Given the description of an element on the screen output the (x, y) to click on. 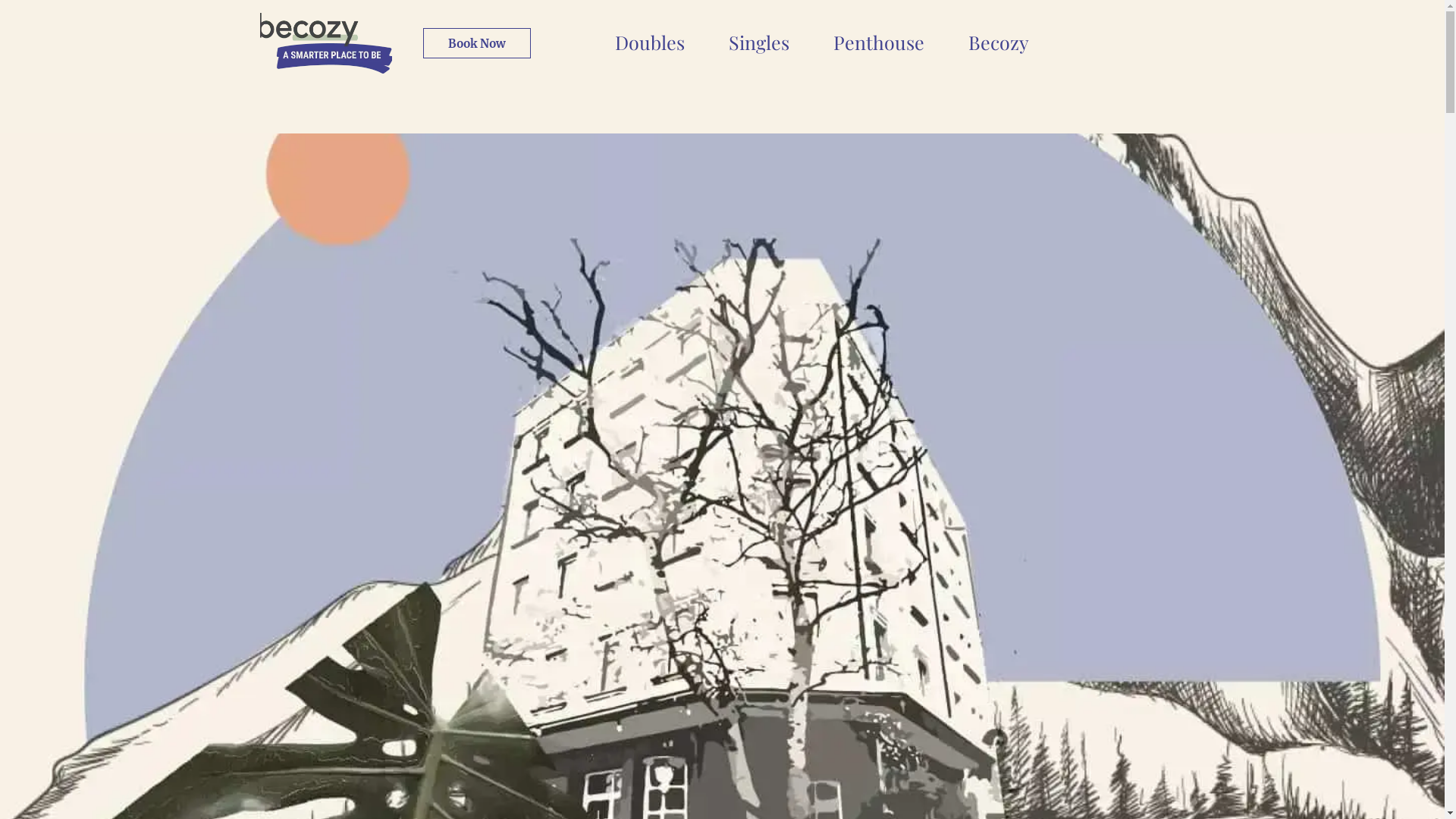
BocozyBasel Element type: hover (325, 42)
Singles Element type: text (758, 41)
Becozy Element type: text (998, 41)
Doubles Element type: text (649, 41)
Penthouse Element type: text (878, 41)
Book Now Element type: text (476, 43)
